Given the description of an element on the screen output the (x, y) to click on. 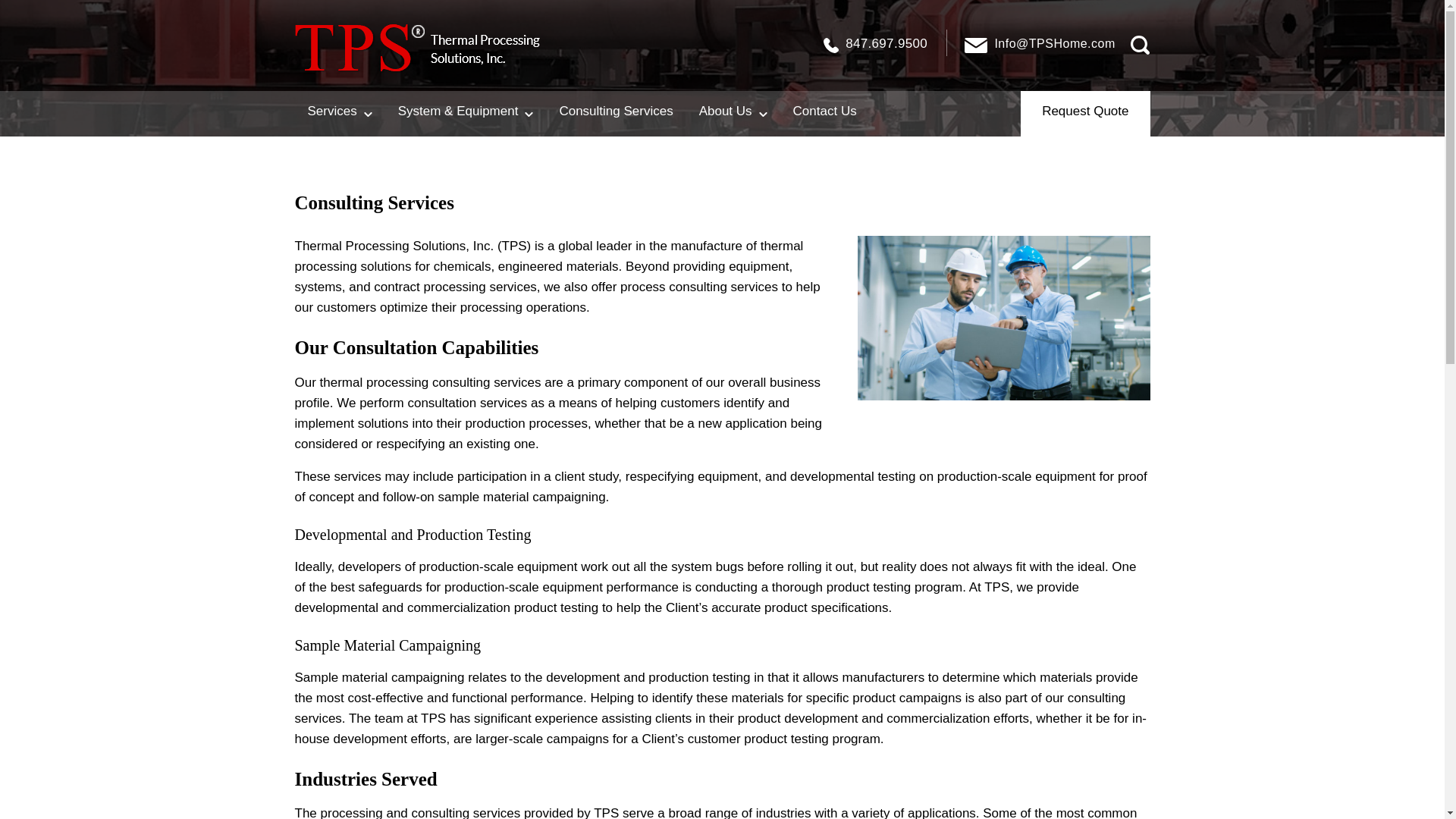
Consulting Services (615, 113)
Request Quote (1085, 113)
Services (339, 113)
847.697.9500 (875, 45)
Thermal Processing Solutions, Inc. (416, 48)
Contact Us (824, 113)
About Us (732, 113)
